Given the description of an element on the screen output the (x, y) to click on. 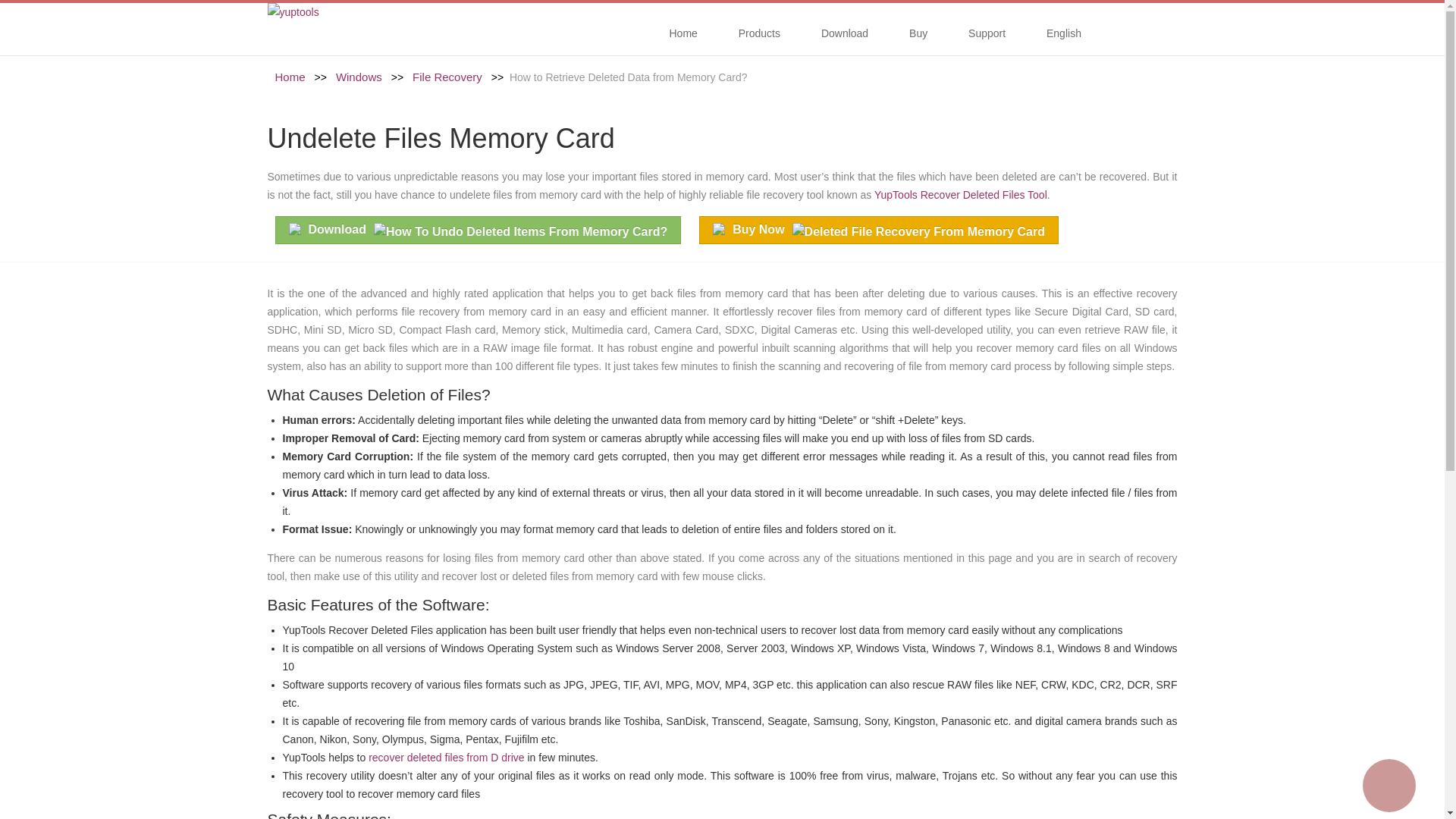
Buy (917, 34)
Download (844, 34)
Download (478, 230)
Home (289, 76)
Products (758, 34)
Home (682, 34)
Skip to content (688, 23)
recover deleted files from D drive (446, 757)
Skip to content (688, 23)
File Recovery (442, 76)
Buy Now (878, 230)
Windows (353, 76)
Support (986, 34)
YupTools Recover Deleted Files Tool (960, 194)
English   (1066, 34)
